Given the description of an element on the screen output the (x, y) to click on. 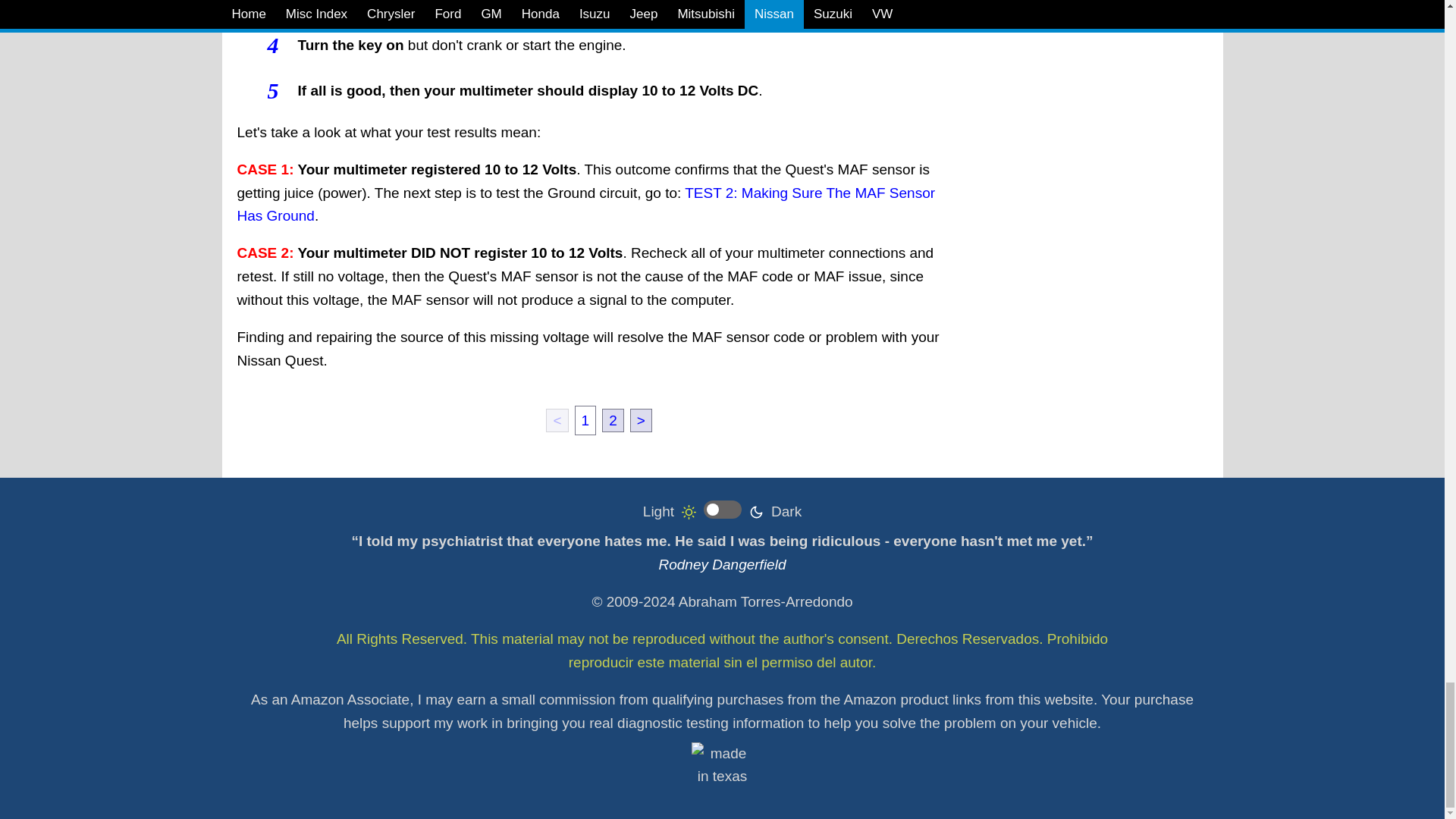
Next (641, 420)
Page 2: Page 2 (613, 420)
